Given the description of an element on the screen output the (x, y) to click on. 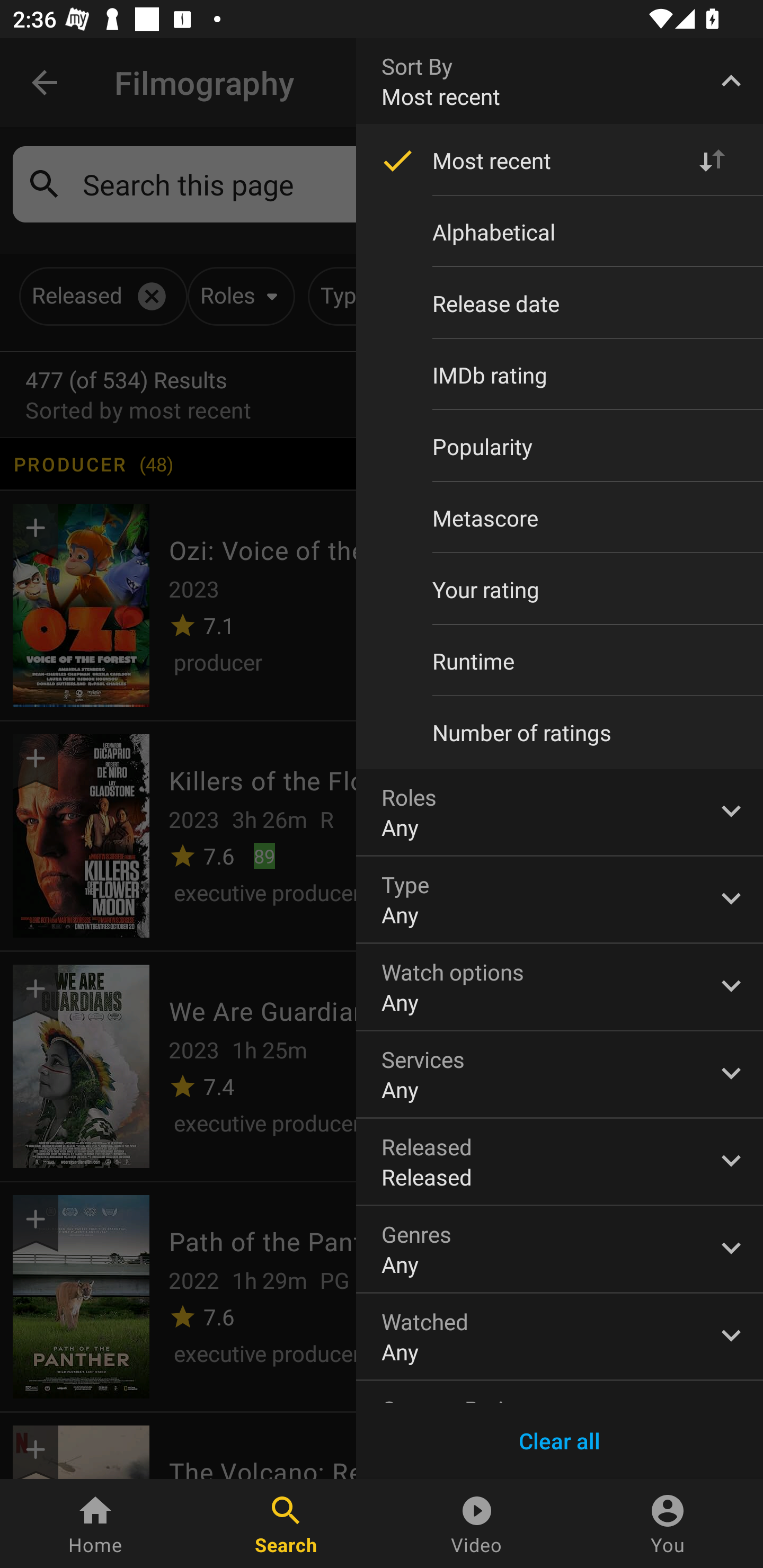
Sort By Most recent (559, 80)
Most recent (559, 160)
Alphabetical (559, 231)
Release date (559, 303)
IMDb rating (559, 374)
Popularity (559, 445)
Metascore (559, 517)
Your rating (559, 589)
Runtime (559, 660)
Number of ratings (559, 732)
Roles Any (559, 811)
Type Any (559, 899)
Watch options Any (559, 986)
Services Any (559, 1073)
Released (559, 1161)
Genres Any (559, 1248)
Watched Any (559, 1336)
Clear all (559, 1440)
Home (95, 1523)
Video (476, 1523)
You (667, 1523)
